Given the description of an element on the screen output the (x, y) to click on. 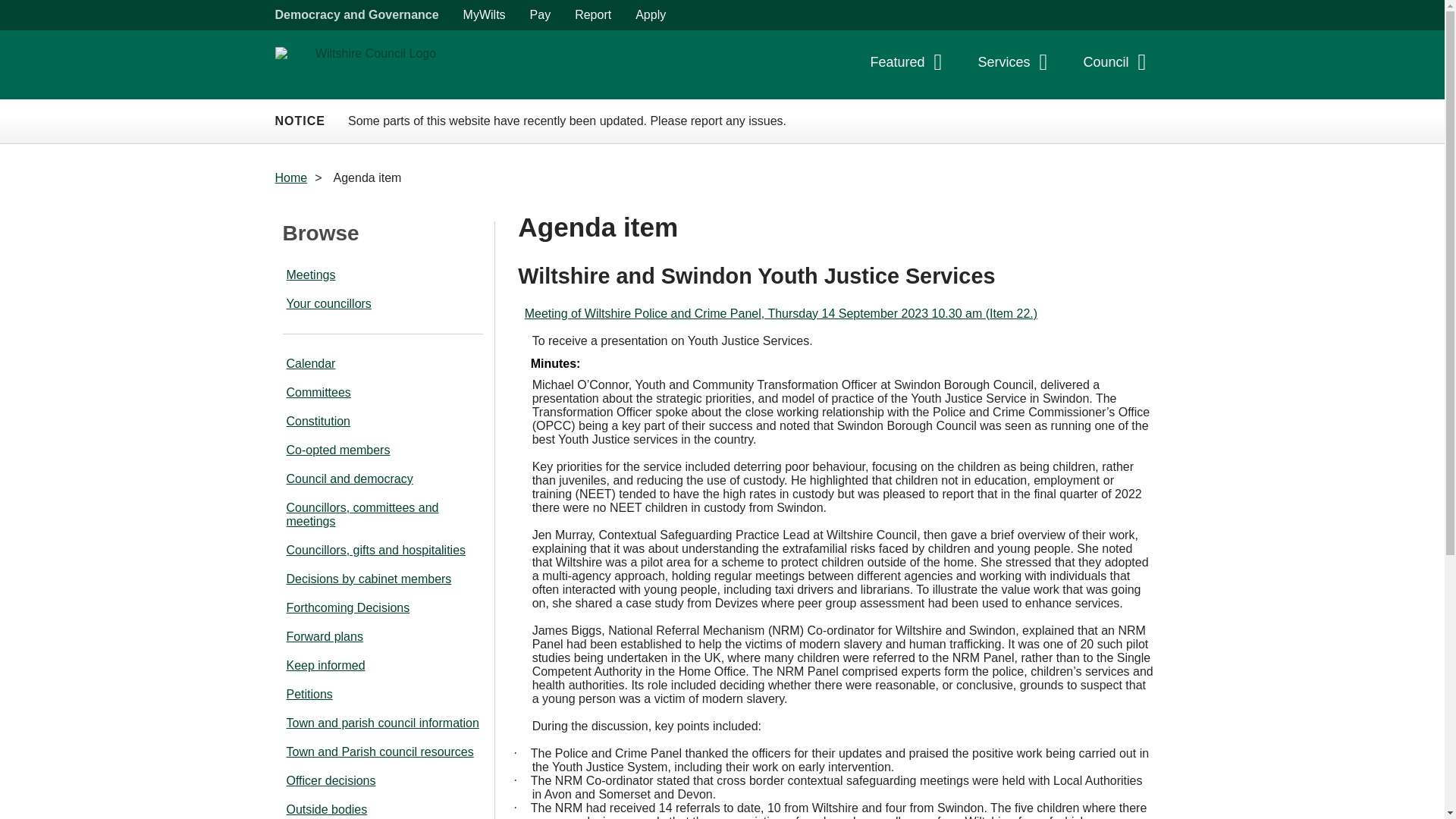
Link to "Wiltshire Council" homepage (369, 64)
Apply (650, 15)
Pay (540, 15)
MyWilts (484, 15)
Featured (909, 66)
Report (592, 15)
